Given the description of an element on the screen output the (x, y) to click on. 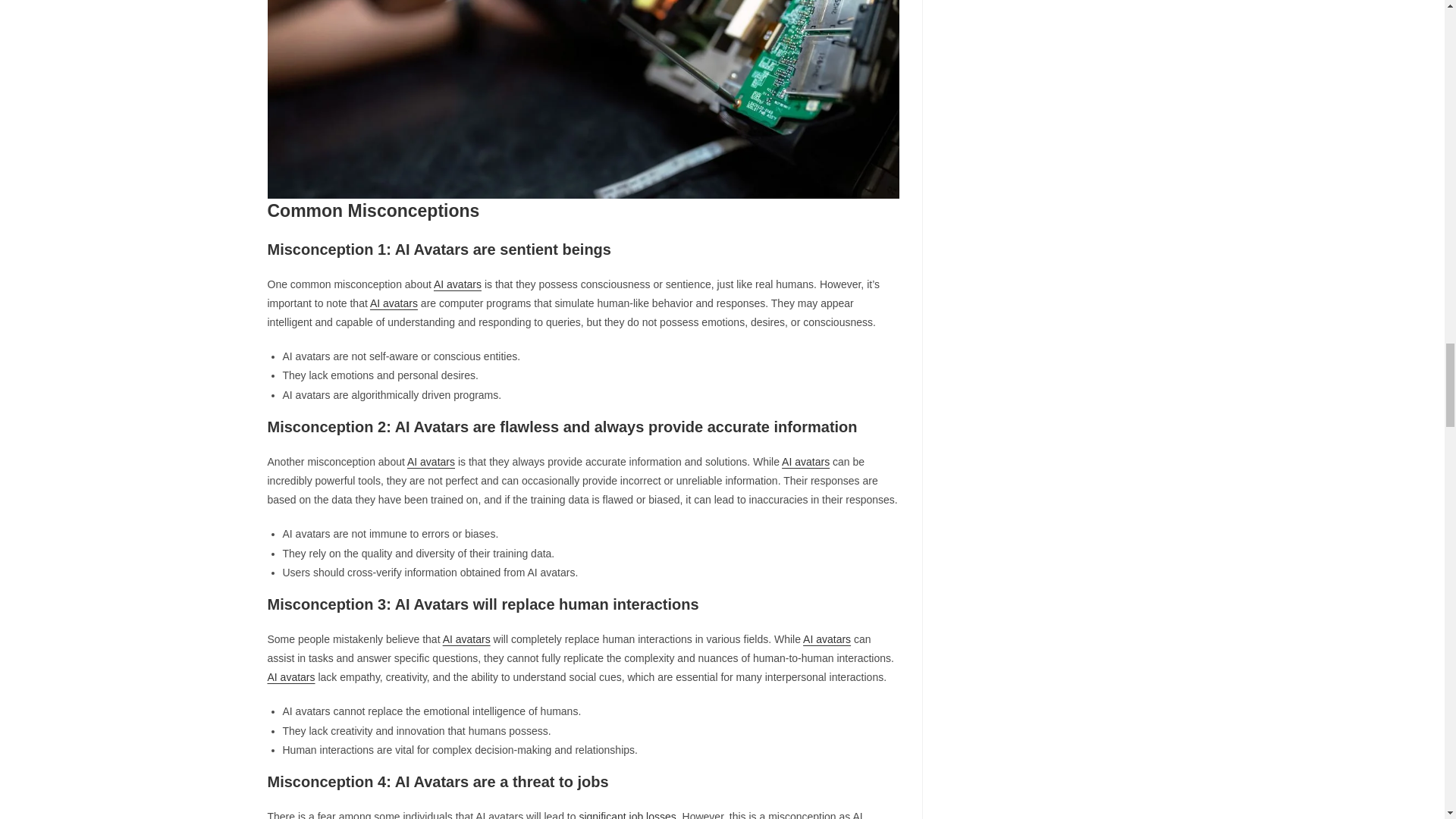
AI avatars (457, 284)
significant job losses (626, 814)
AI avatars (826, 639)
AI avatars (290, 676)
AI avatars (430, 461)
Best AI Avatar (582, 99)
AI avatars (805, 461)
AI avatars (393, 303)
AI avatars (466, 639)
